Given the description of an element on the screen output the (x, y) to click on. 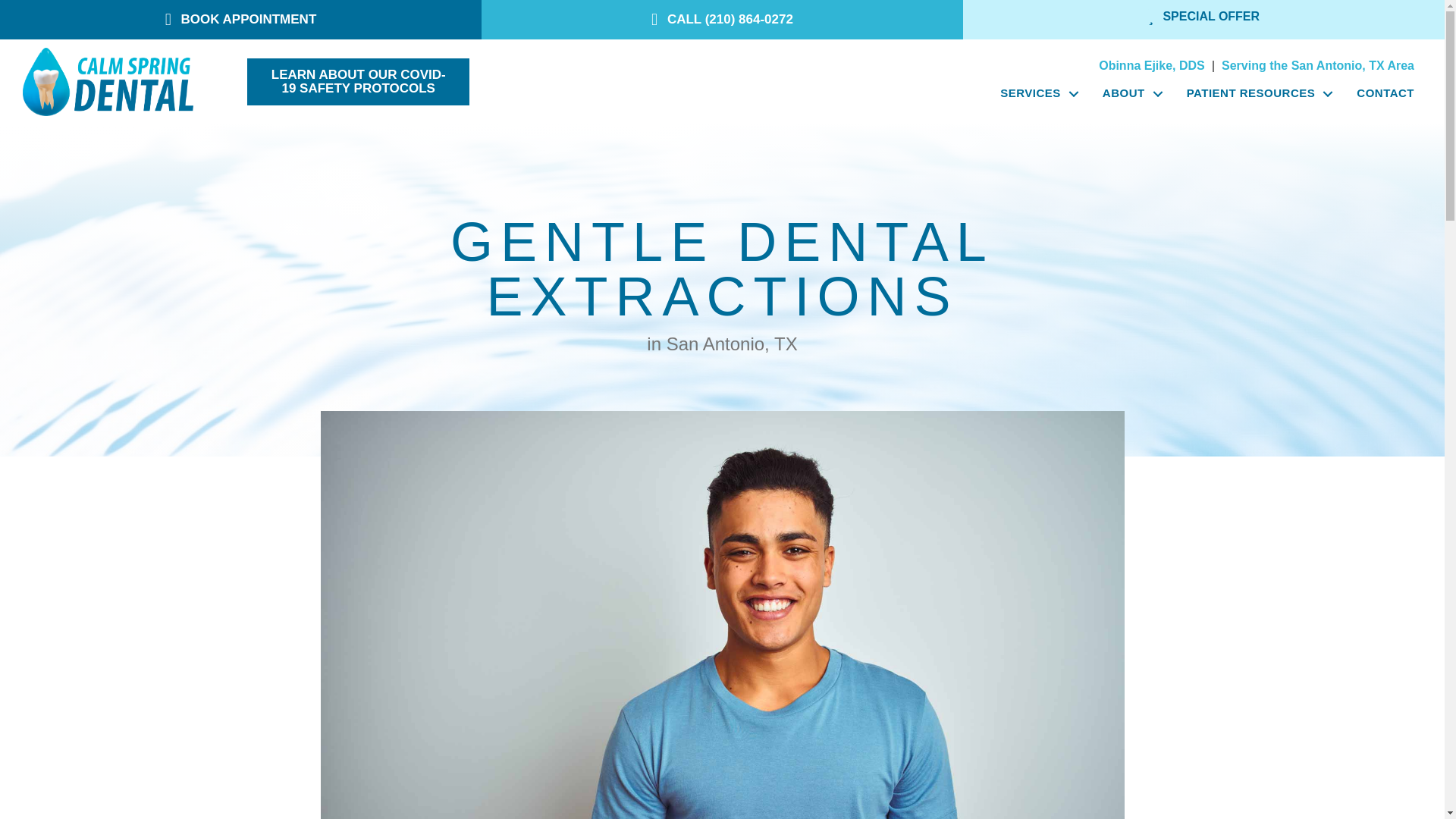
ABOUT (1128, 93)
SERVICES (1035, 93)
PATIENT RESOURCES (1256, 93)
Obinna Ejike, DDS (1152, 65)
SPECIAL OFFER (1203, 16)
LEARN ABOUT OUR COVID-19 SAFETY PROTOCOLS (357, 81)
Serving the San Antonio, TX Area (1317, 65)
BOOK APPOINTMENT (240, 19)
Calm Spring Logo (108, 81)
